Given the description of an element on the screen output the (x, y) to click on. 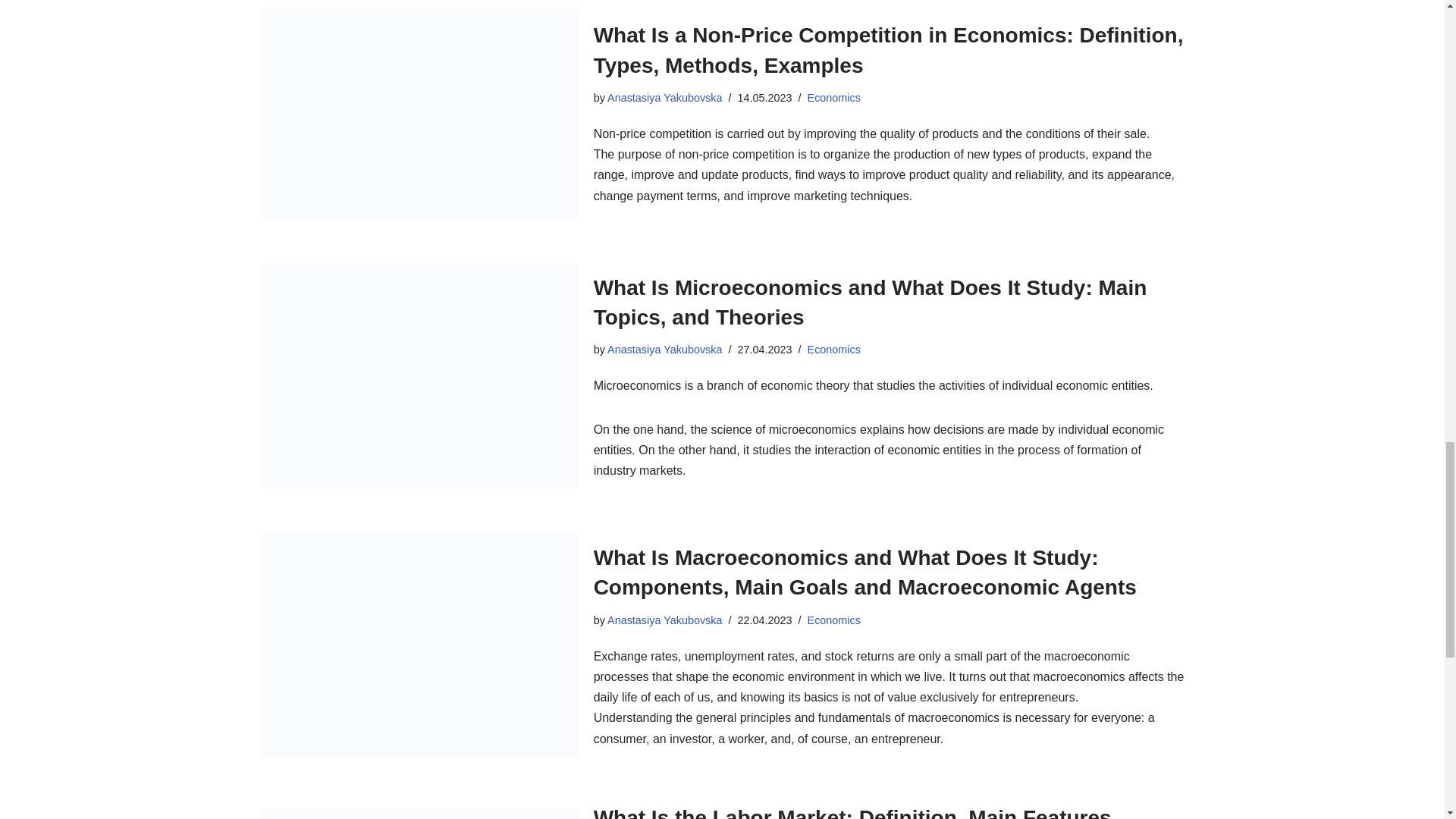
Posts by Anastasiya Yakubovska (664, 97)
Posts by Anastasiya Yakubovska (664, 349)
Posts by Anastasiya Yakubovska (664, 620)
